Given the description of an element on the screen output the (x, y) to click on. 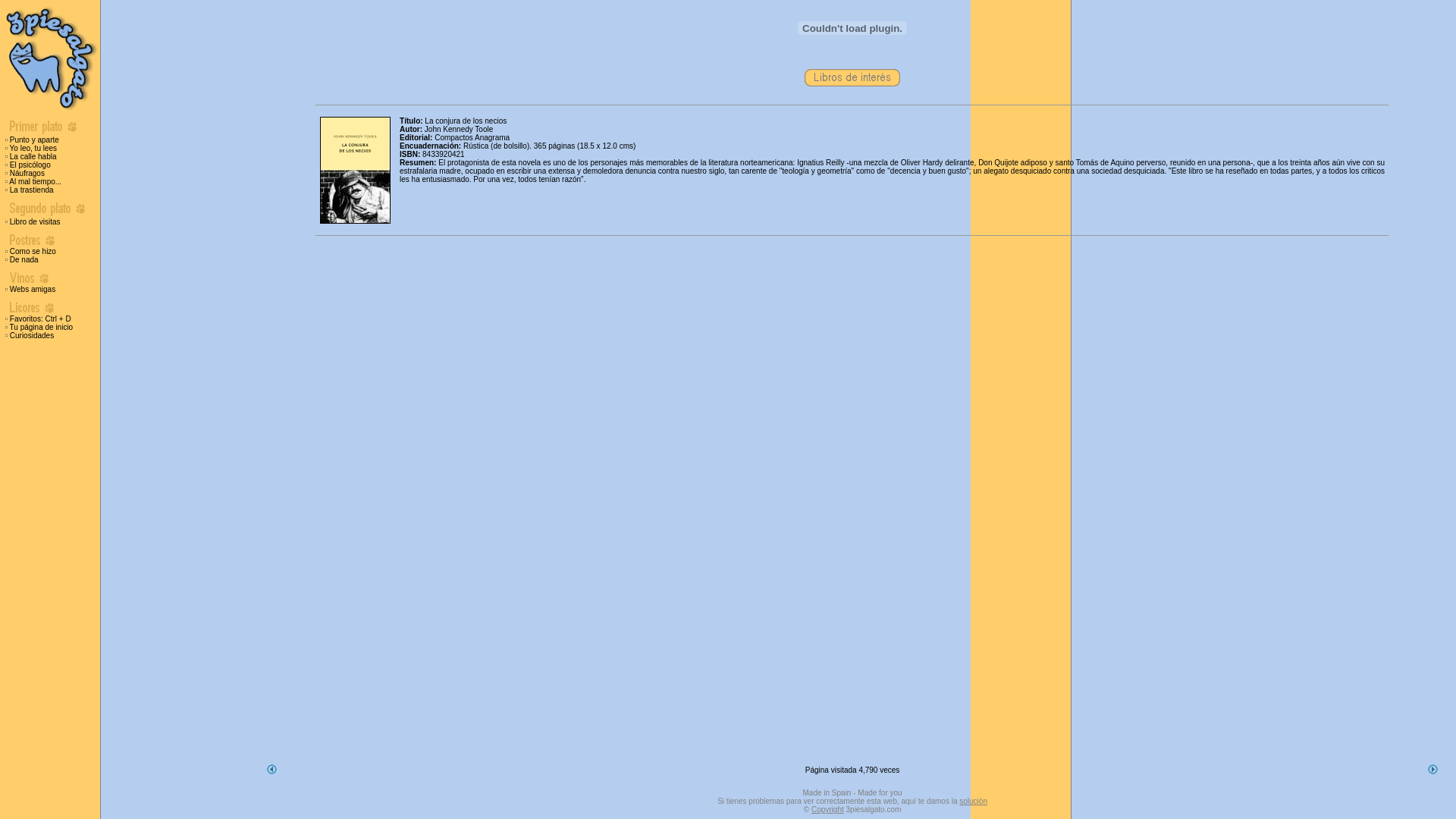
Copyright Element type: text (827, 809)
La trastienda Element type: text (31, 189)
Libro de visitas Element type: text (34, 221)
La calle habla Element type: text (32, 156)
Punto y aparte Element type: text (34, 139)
Al mal tiempo... Element type: text (35, 181)
De nada Element type: text (23, 259)
Como se hizo Element type: text (32, 251)
Curiosidades Element type: text (31, 335)
Webs amigas Element type: text (32, 289)
Yo leo, tu lees Element type: text (32, 148)
